Given the description of an element on the screen output the (x, y) to click on. 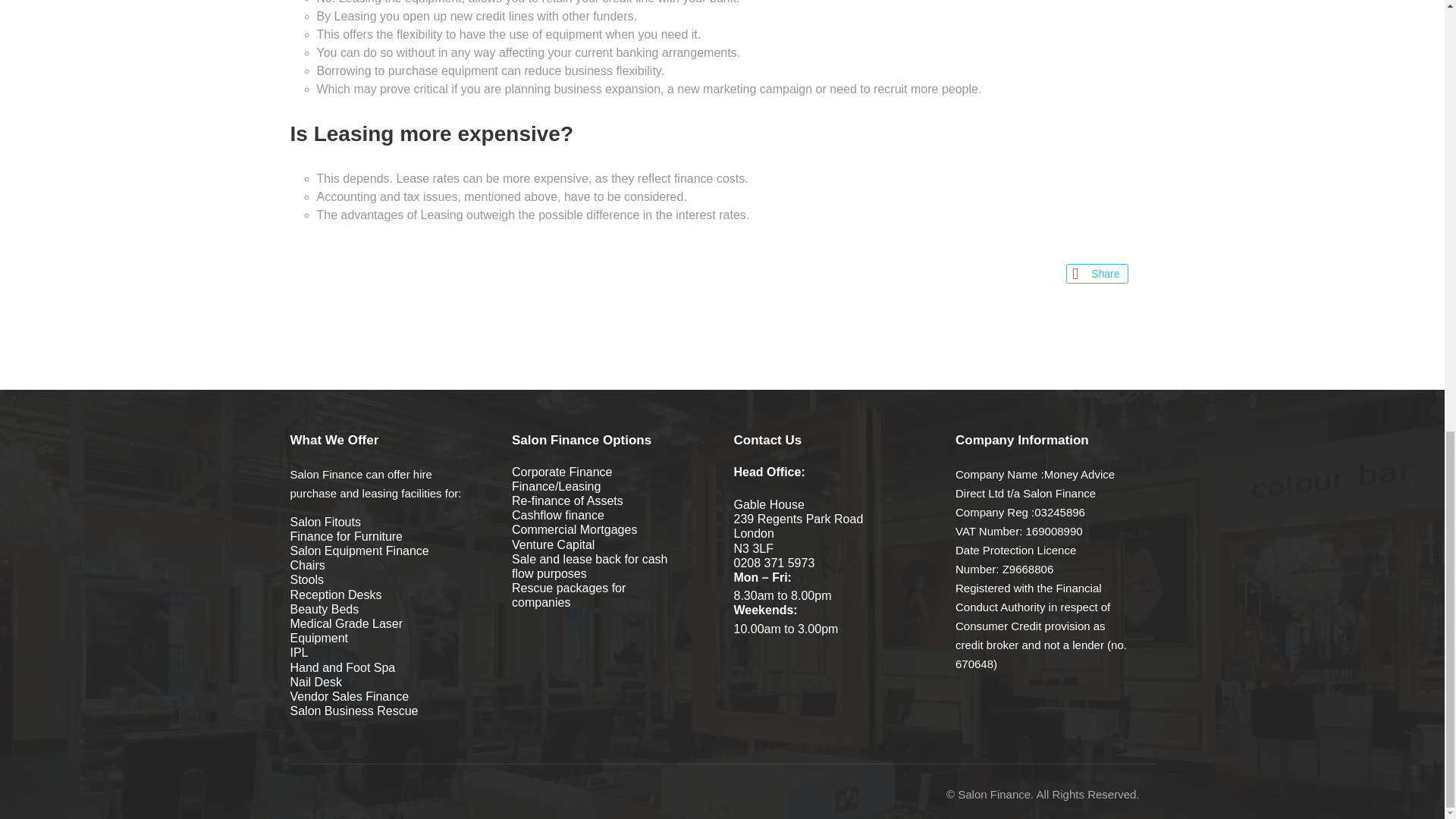
IPL (298, 652)
Salon Fitouts (324, 521)
Salon Business Rescue (353, 710)
Salon Equipment Finance (358, 550)
Medical Grade Laser Equipment (346, 630)
Share (1095, 273)
Vendor Sales Finance (349, 696)
Finance for Furniture (346, 535)
